Given the description of an element on the screen output the (x, y) to click on. 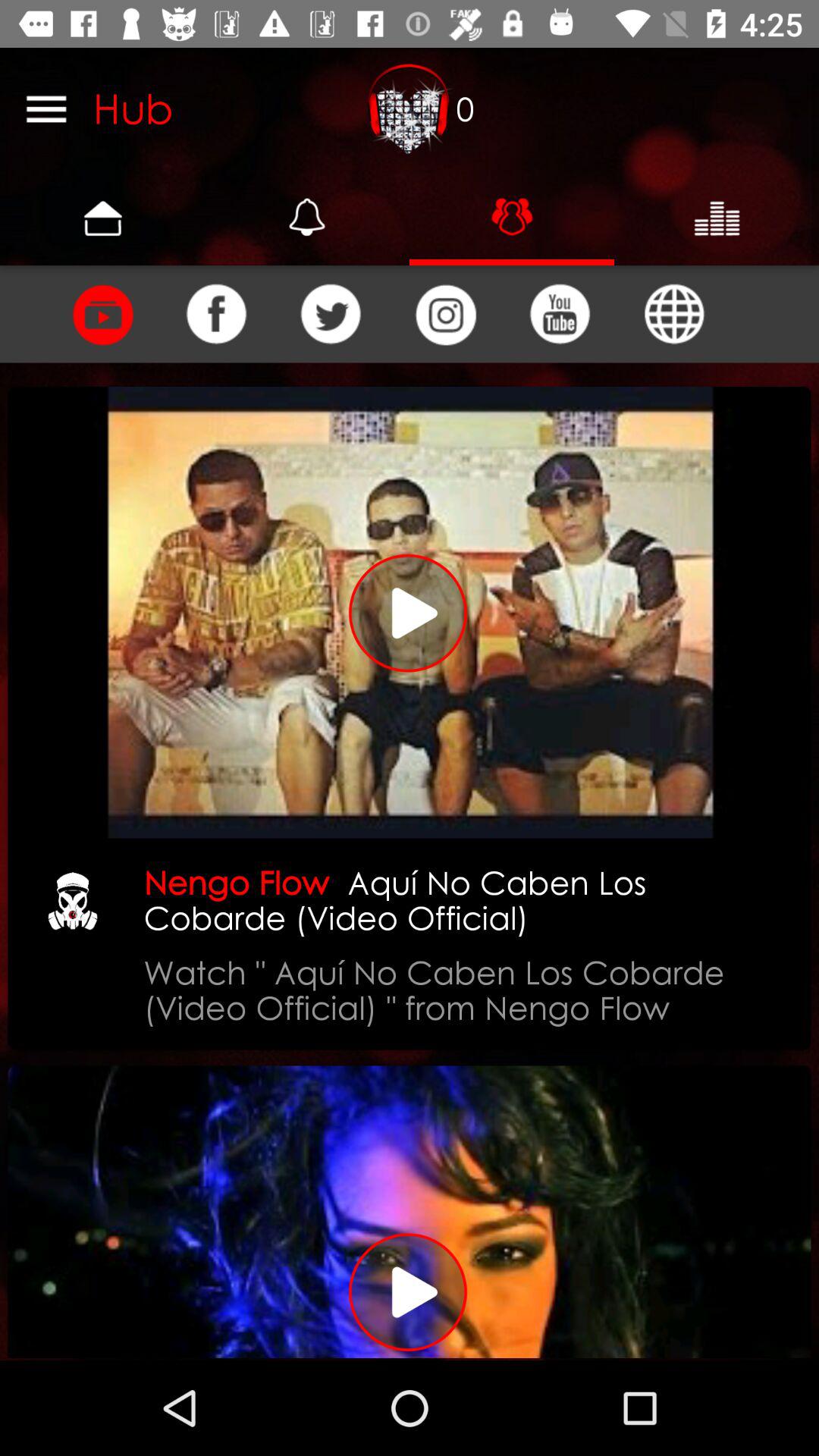
watch video (409, 612)
